Given the description of an element on the screen output the (x, y) to click on. 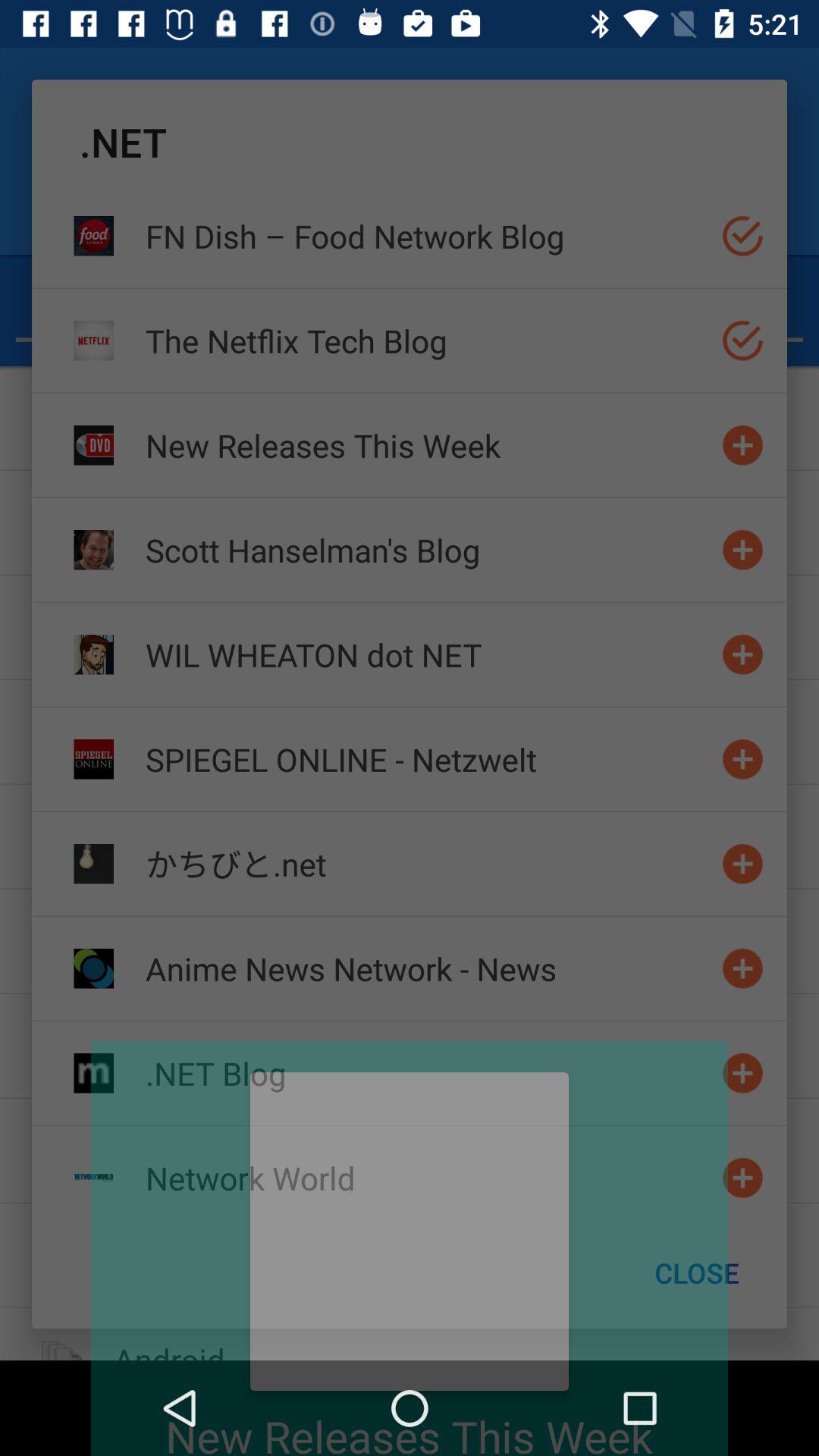
toggle select option (742, 340)
